Given the description of an element on the screen output the (x, y) to click on. 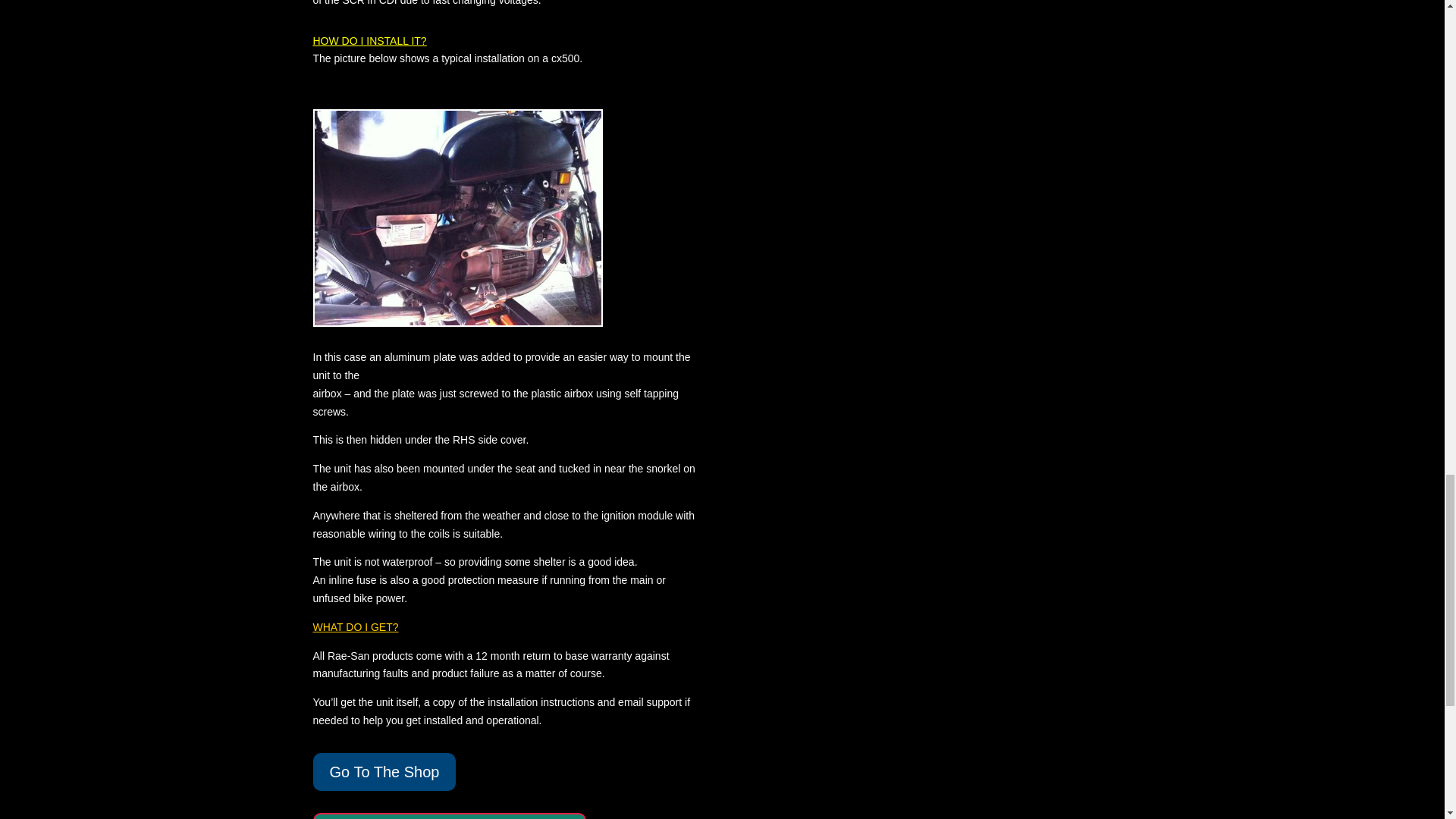
4a5ejy7y (457, 217)
